Given the description of an element on the screen output the (x, y) to click on. 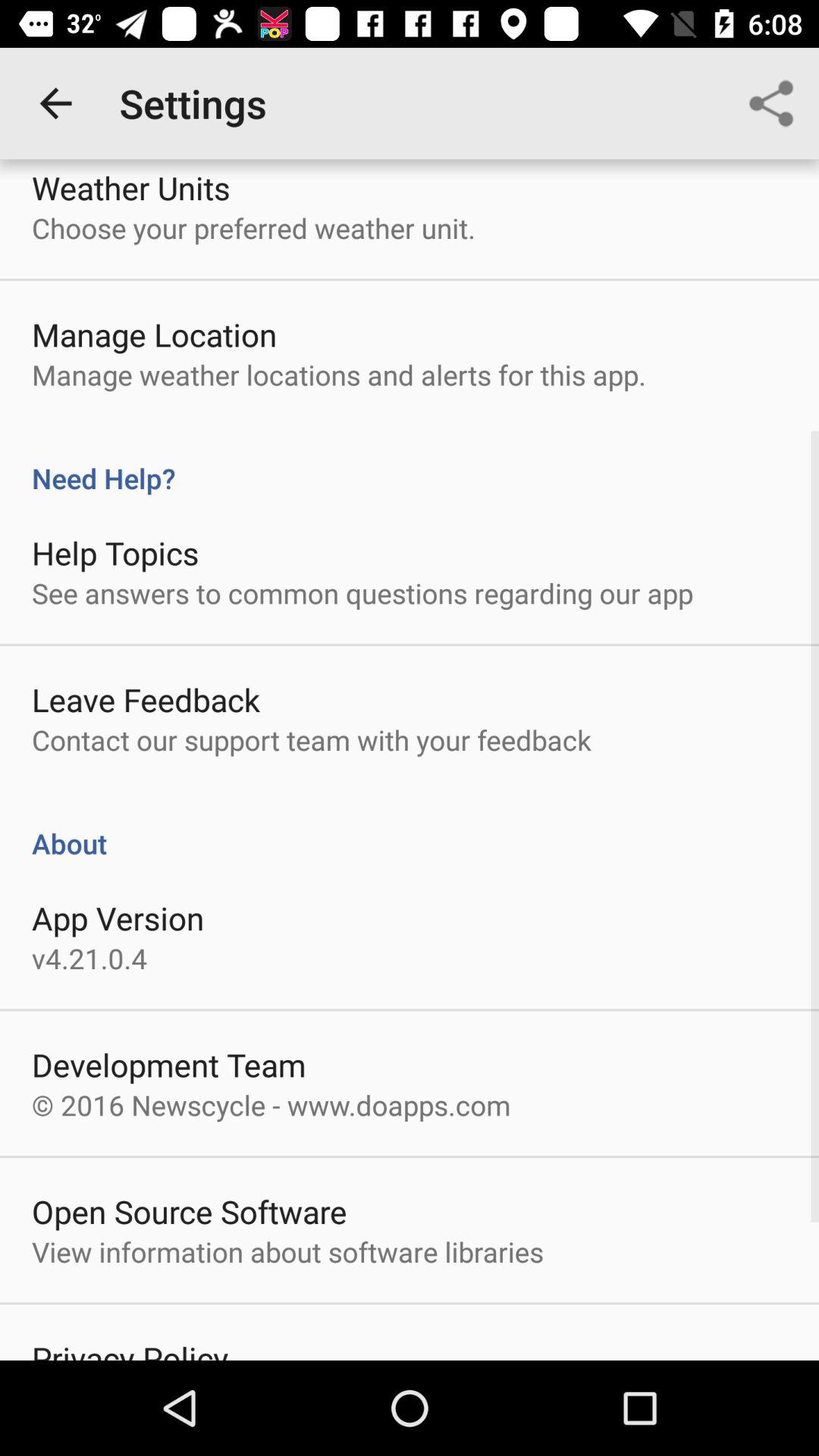
tap the privacy policy (129, 1348)
